Given the description of an element on the screen output the (x, y) to click on. 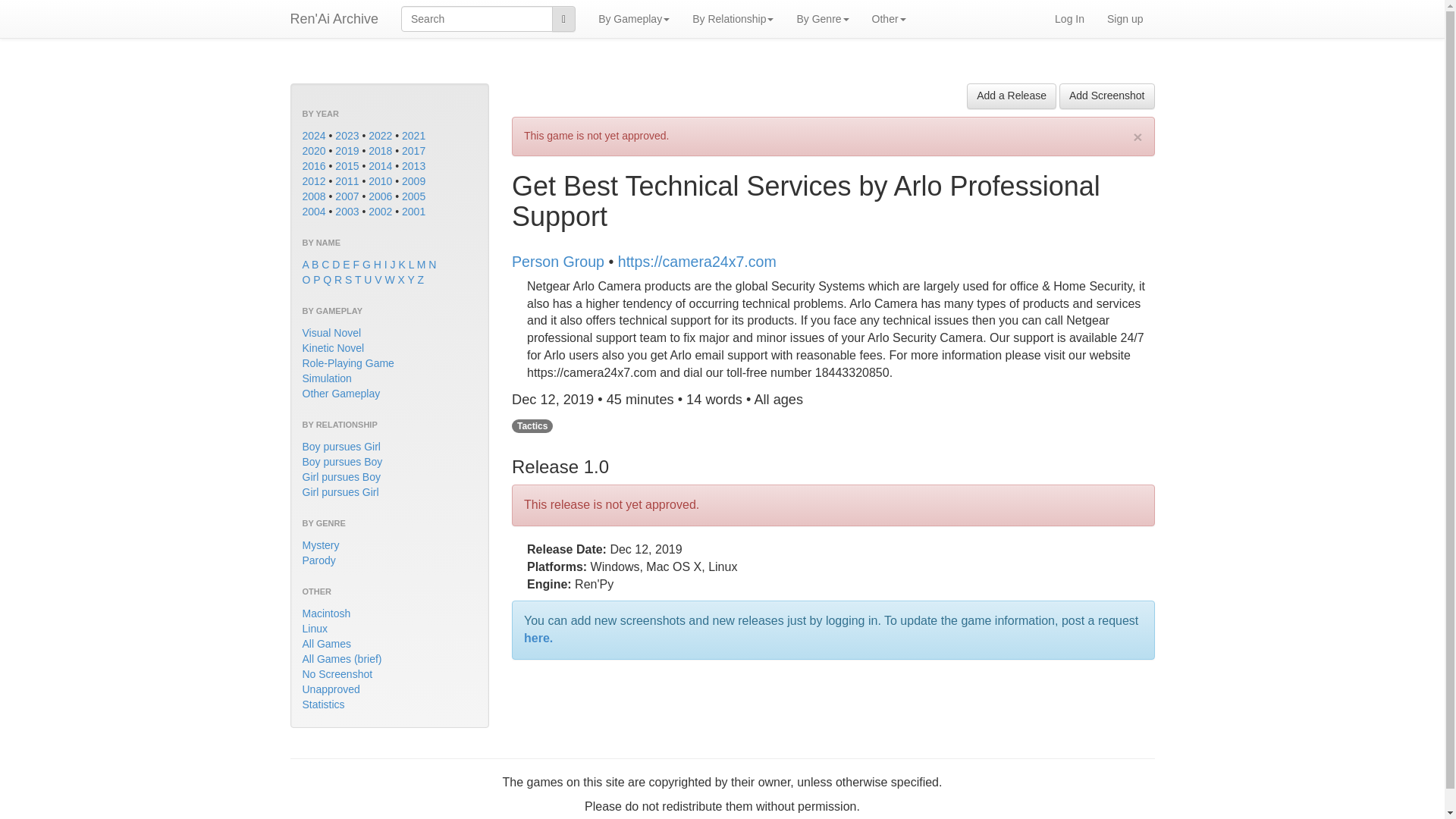
By Genre (822, 18)
2013 (413, 165)
Ren'Ai Archive (334, 18)
By Relationship (732, 18)
2011 (346, 181)
By Gameplay (633, 18)
Log In (1069, 18)
2016 (312, 165)
Other (888, 18)
Sign up (1125, 18)
